Given the description of an element on the screen output the (x, y) to click on. 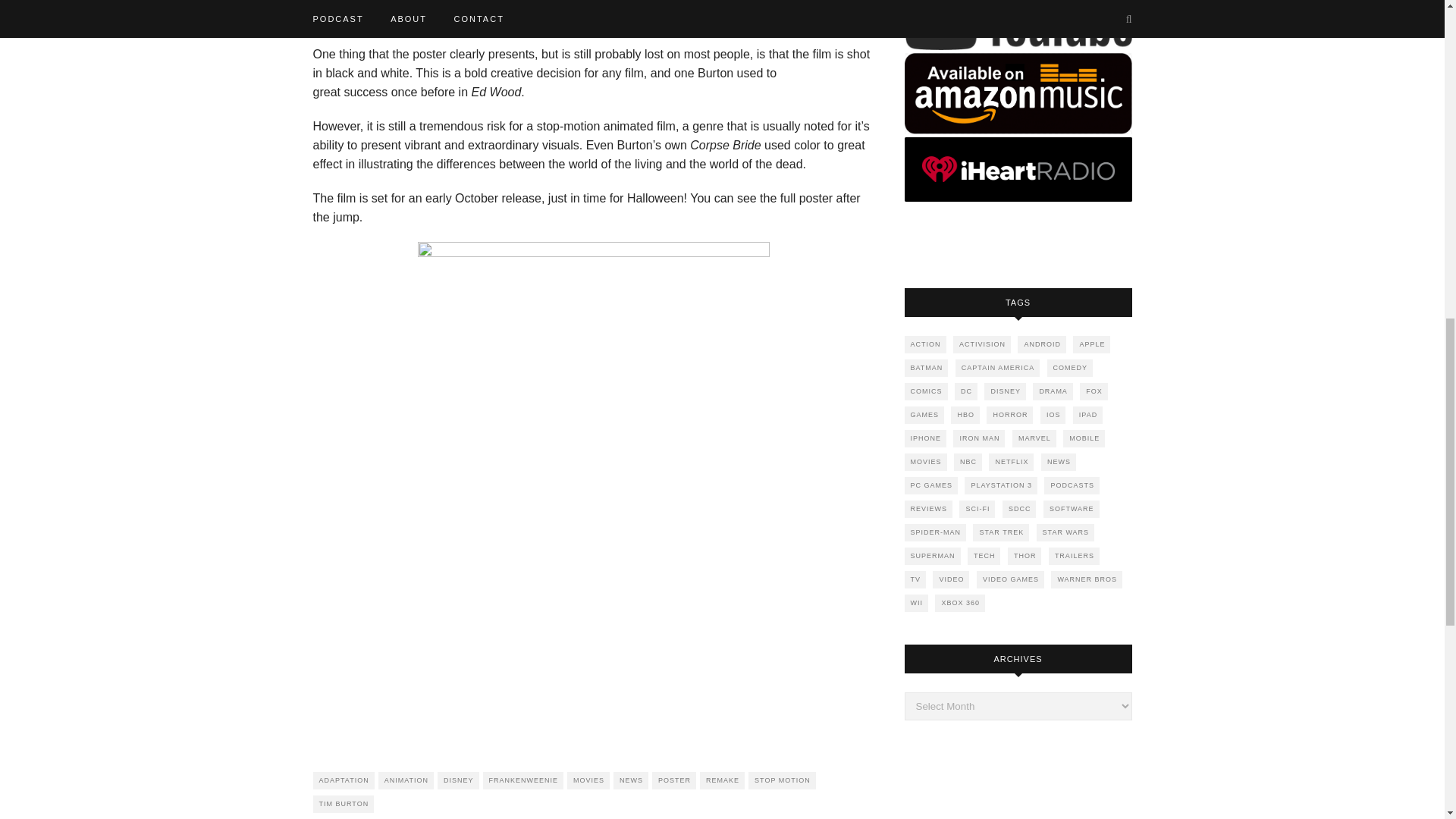
REMAKE (722, 780)
ANIMATION (405, 780)
TIM BURTON (343, 804)
POSTER (673, 780)
NEWS (629, 780)
DISNEY (458, 780)
STOP MOTION (781, 780)
ADAPTATION (343, 780)
FRANKENWEENIE (523, 780)
MOVIES (588, 780)
